Given the description of an element on the screen output the (x, y) to click on. 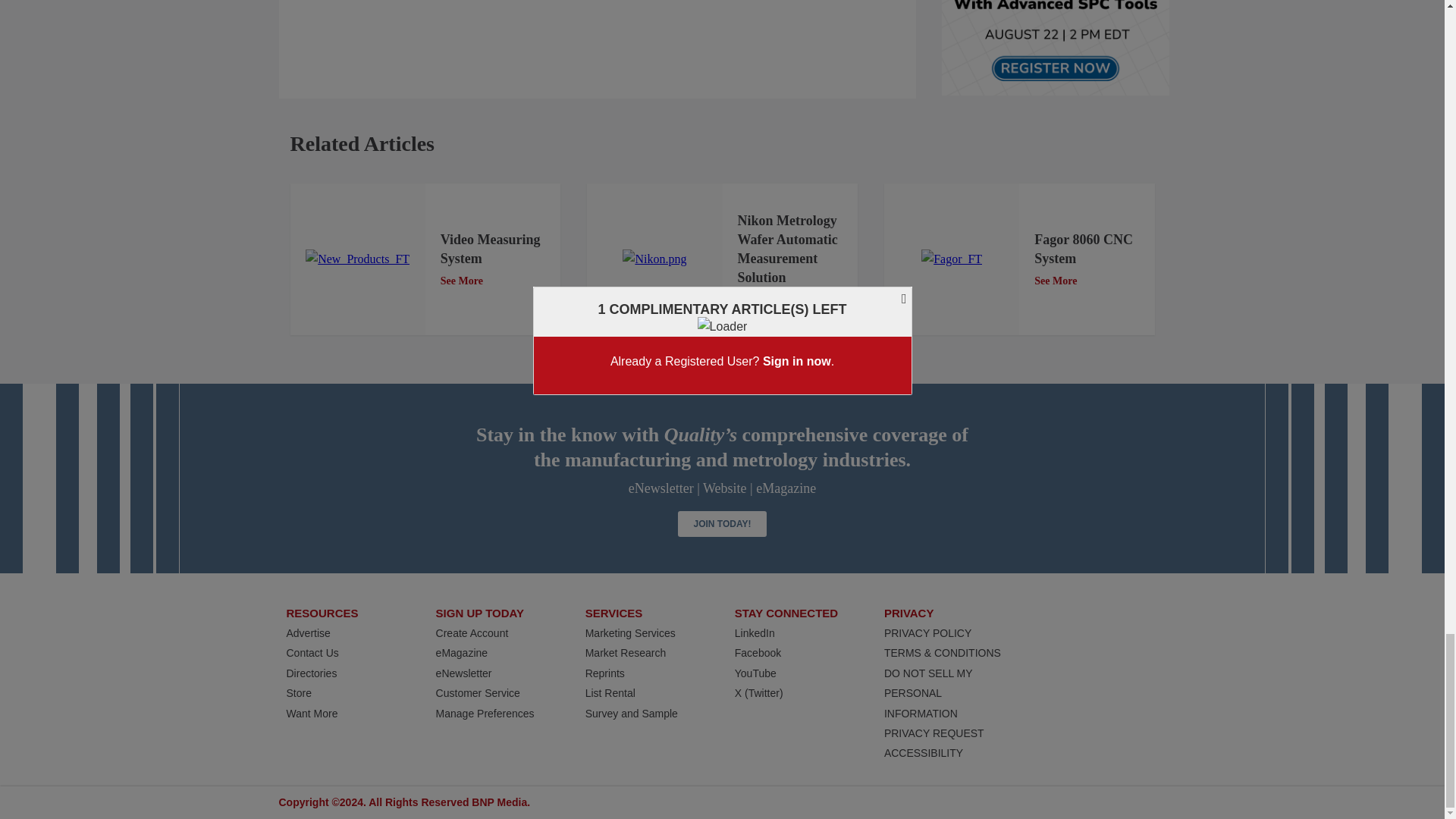
Nikon.png (654, 259)
